Given the description of an element on the screen output the (x, y) to click on. 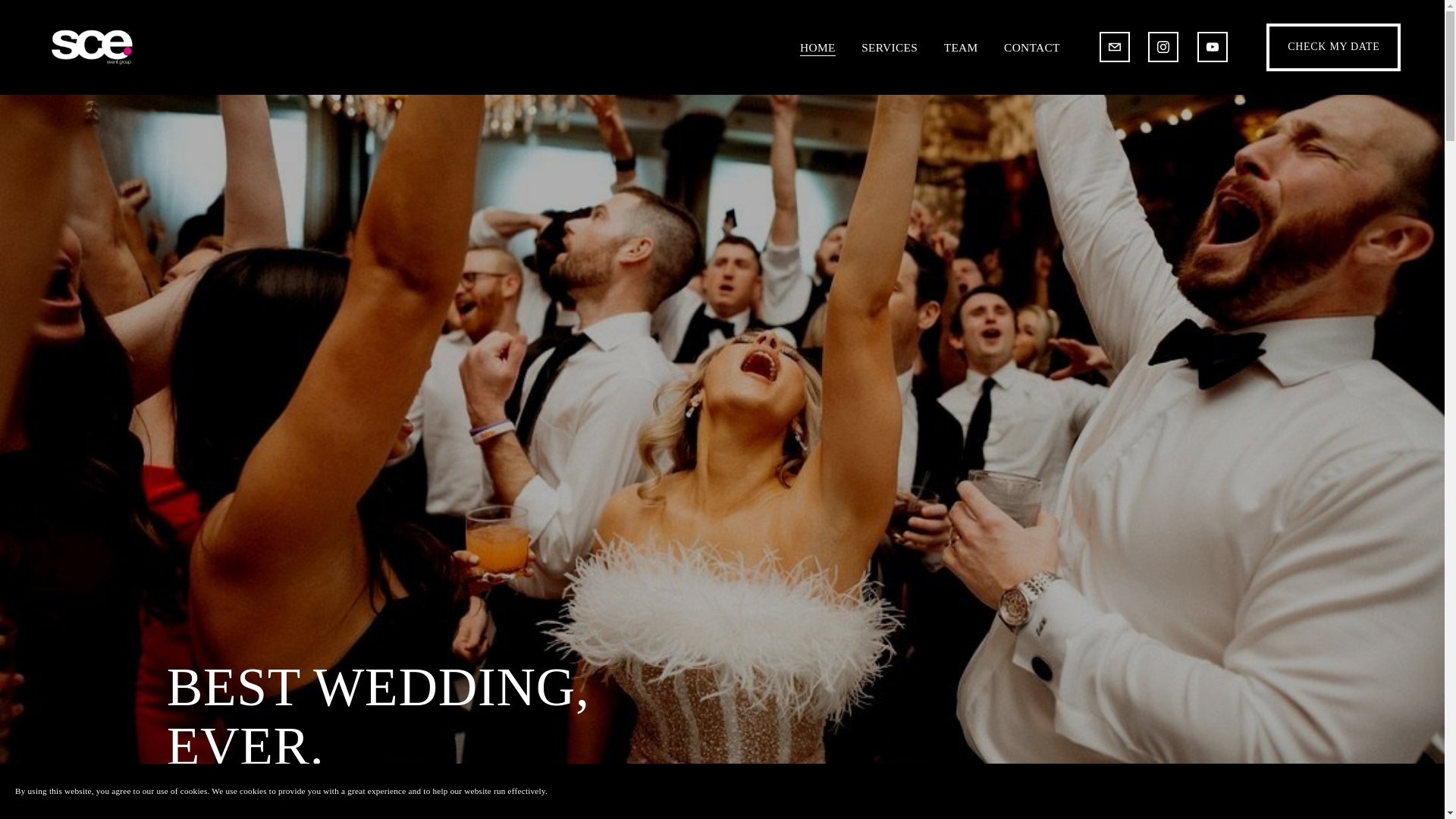
SERVICES (889, 46)
Accept (1400, 790)
TEAM (960, 46)
CONTACT (1031, 46)
HOME (817, 46)
CHECK MY DATE (1333, 47)
